Given the description of an element on the screen output the (x, y) to click on. 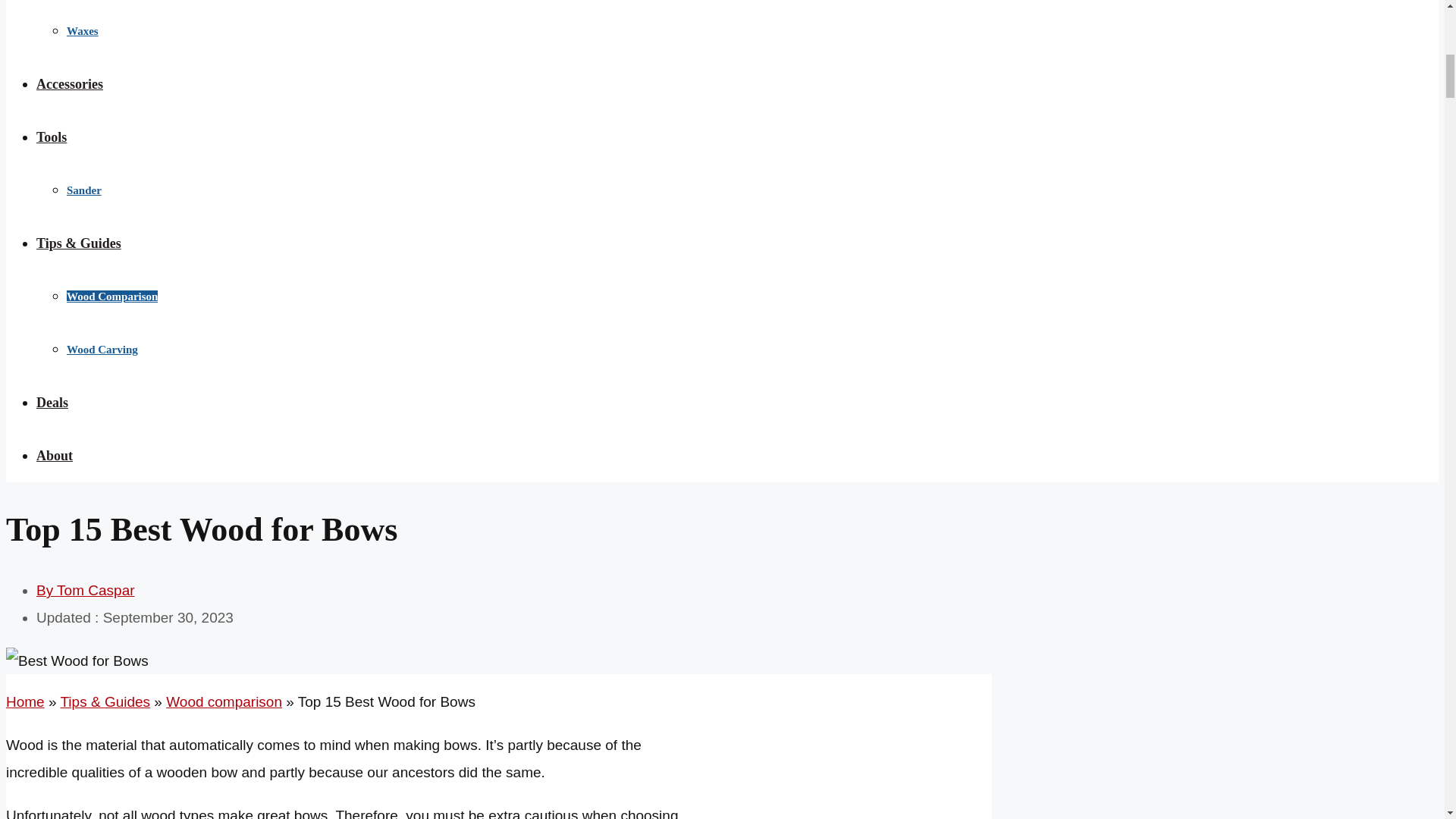
About (54, 455)
Wood Comparison (111, 296)
Wood comparison (223, 701)
Waxes (82, 30)
By Tom Caspar (85, 590)
Sander (83, 190)
Tools (51, 136)
Deals (52, 402)
Wood Carving (102, 349)
Tom Caspar (85, 590)
Accessories (69, 83)
Home (25, 701)
